Given the description of an element on the screen output the (x, y) to click on. 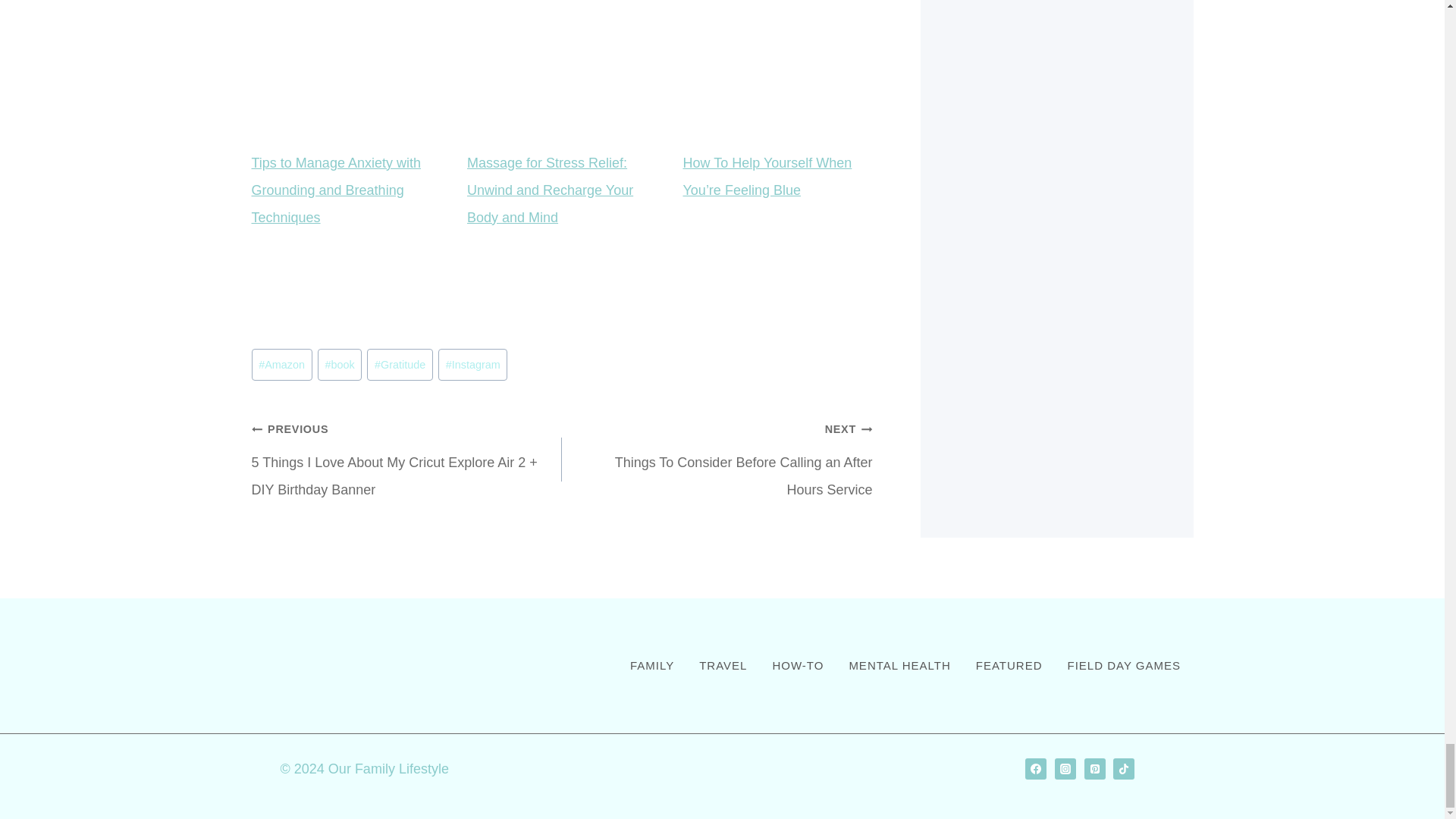
Gratitude (378, 399)
Amazon (279, 399)
book (327, 399)
Instagram (444, 399)
